Given the description of an element on the screen output the (x, y) to click on. 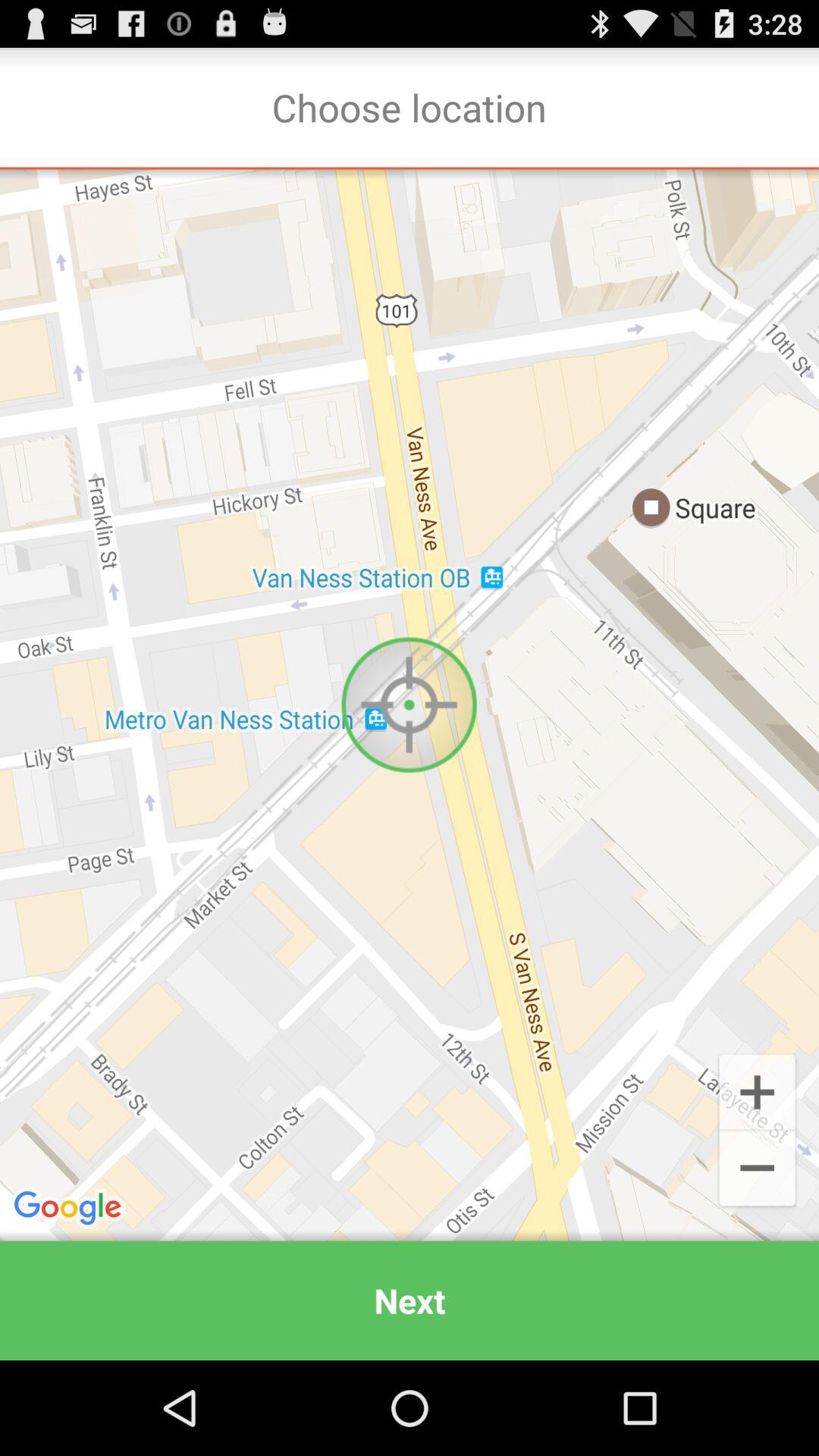
jump until next app (409, 1300)
